Given the description of an element on the screen output the (x, y) to click on. 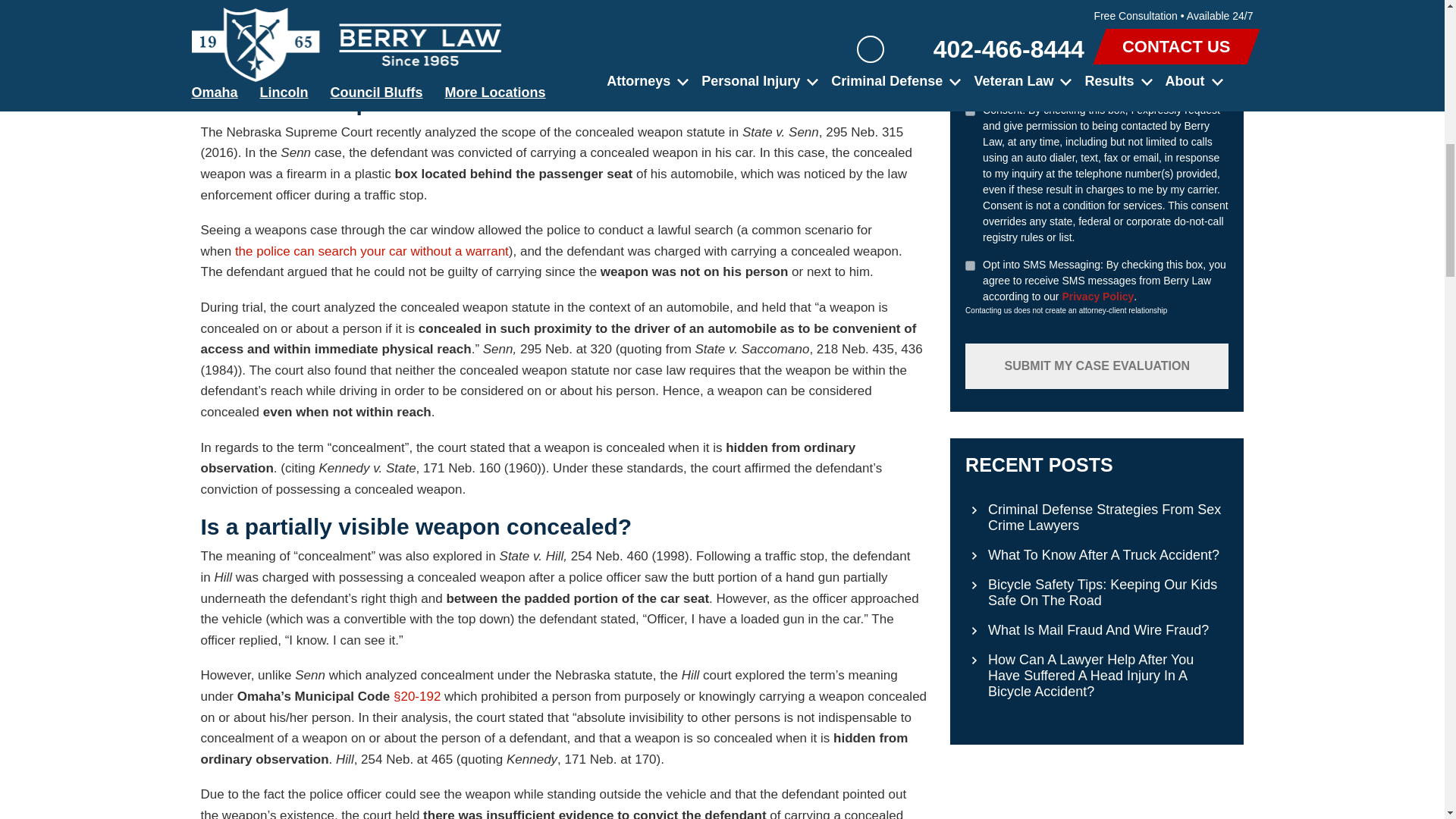
1 (970, 266)
Submit My Case Evaluation (1096, 366)
1 (970, 111)
